Given the description of an element on the screen output the (x, y) to click on. 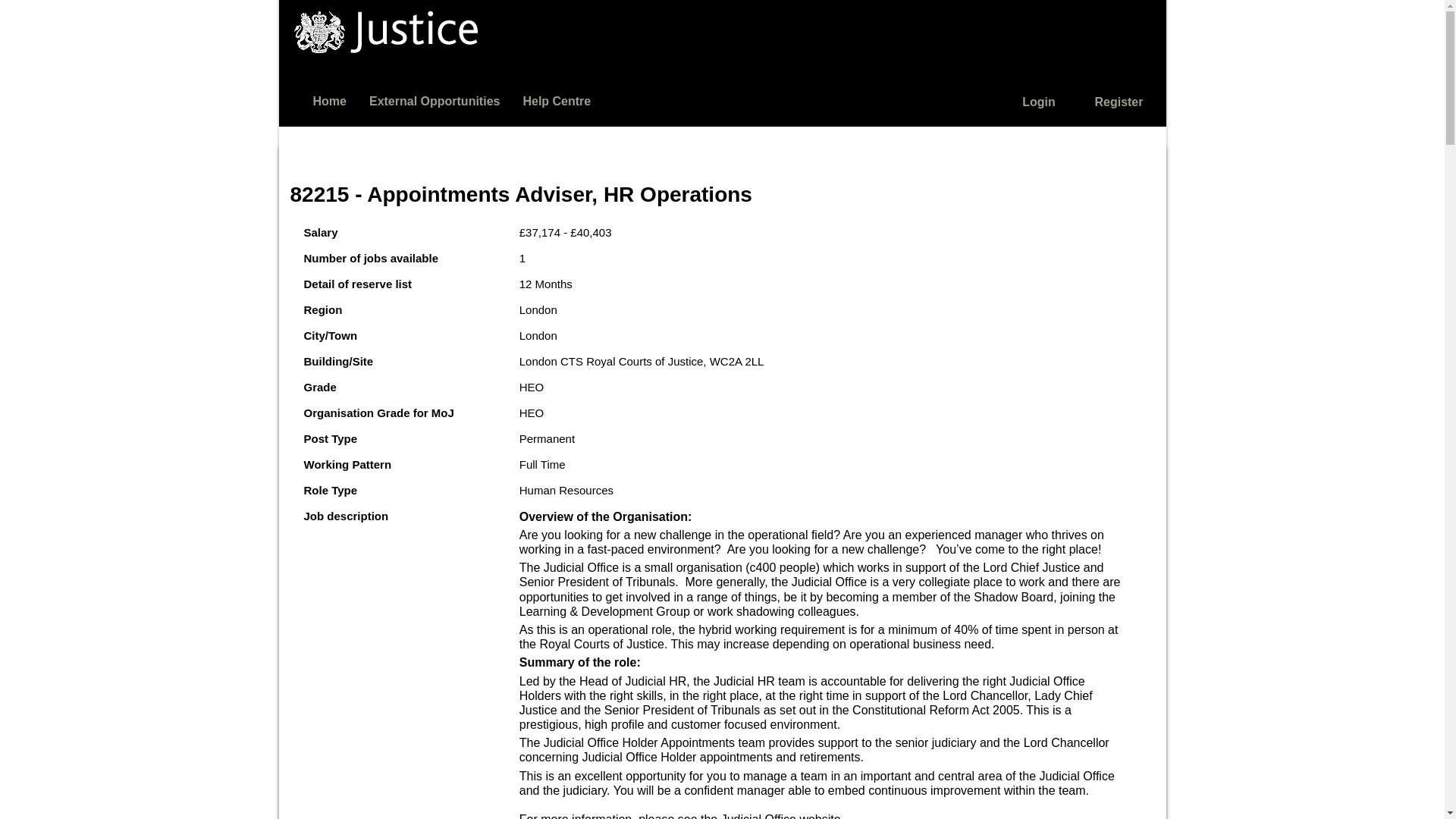
Home (329, 100)
Register (1118, 101)
External Opportunities (434, 100)
Login (1038, 101)
Help Centre (556, 100)
